Given the description of an element on the screen output the (x, y) to click on. 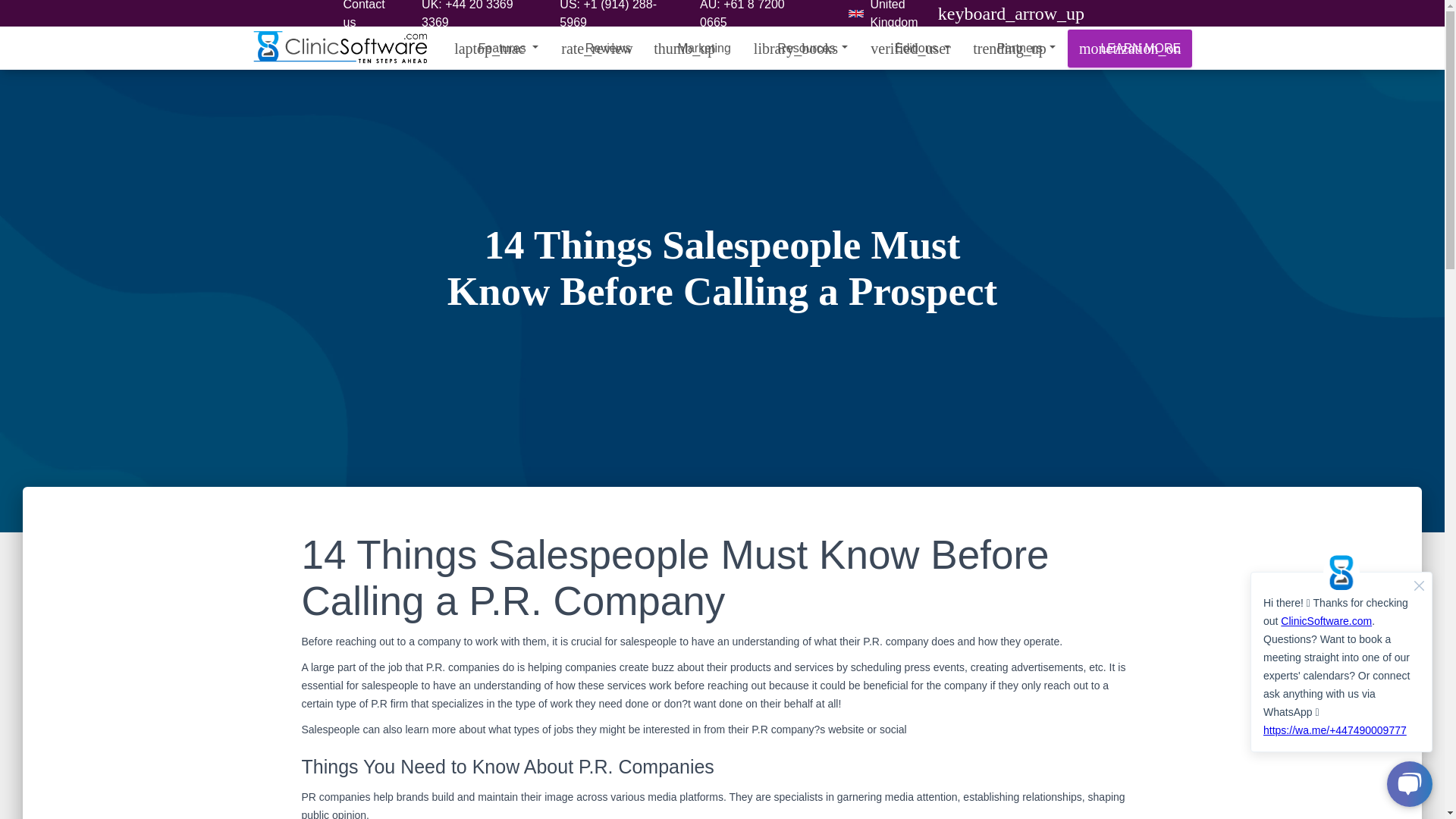
Contact us (369, 17)
